Given the description of an element on the screen output the (x, y) to click on. 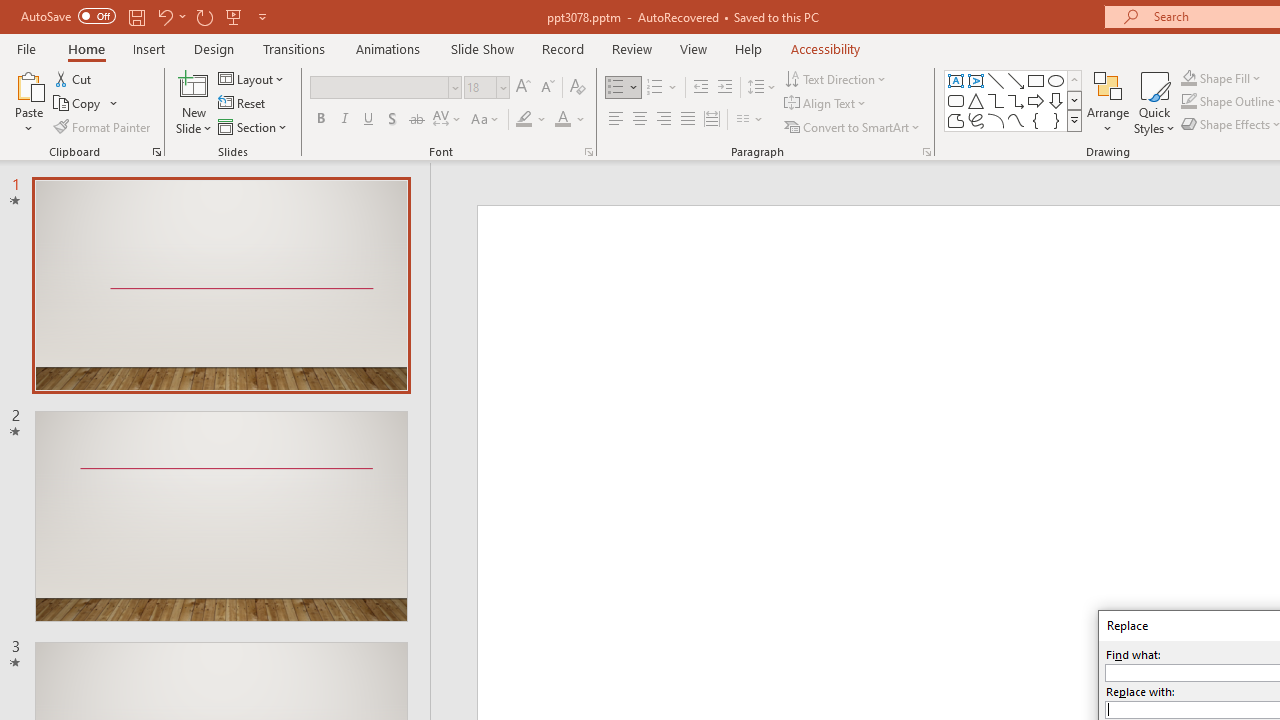
Section (254, 126)
Clear Formatting (577, 87)
Row Down (1074, 100)
Distributed (712, 119)
Office Clipboard... (156, 151)
Increase Indent (725, 87)
Accessibility (825, 48)
Numbering (661, 87)
Font Color Red (562, 119)
